Given the description of an element on the screen output the (x, y) to click on. 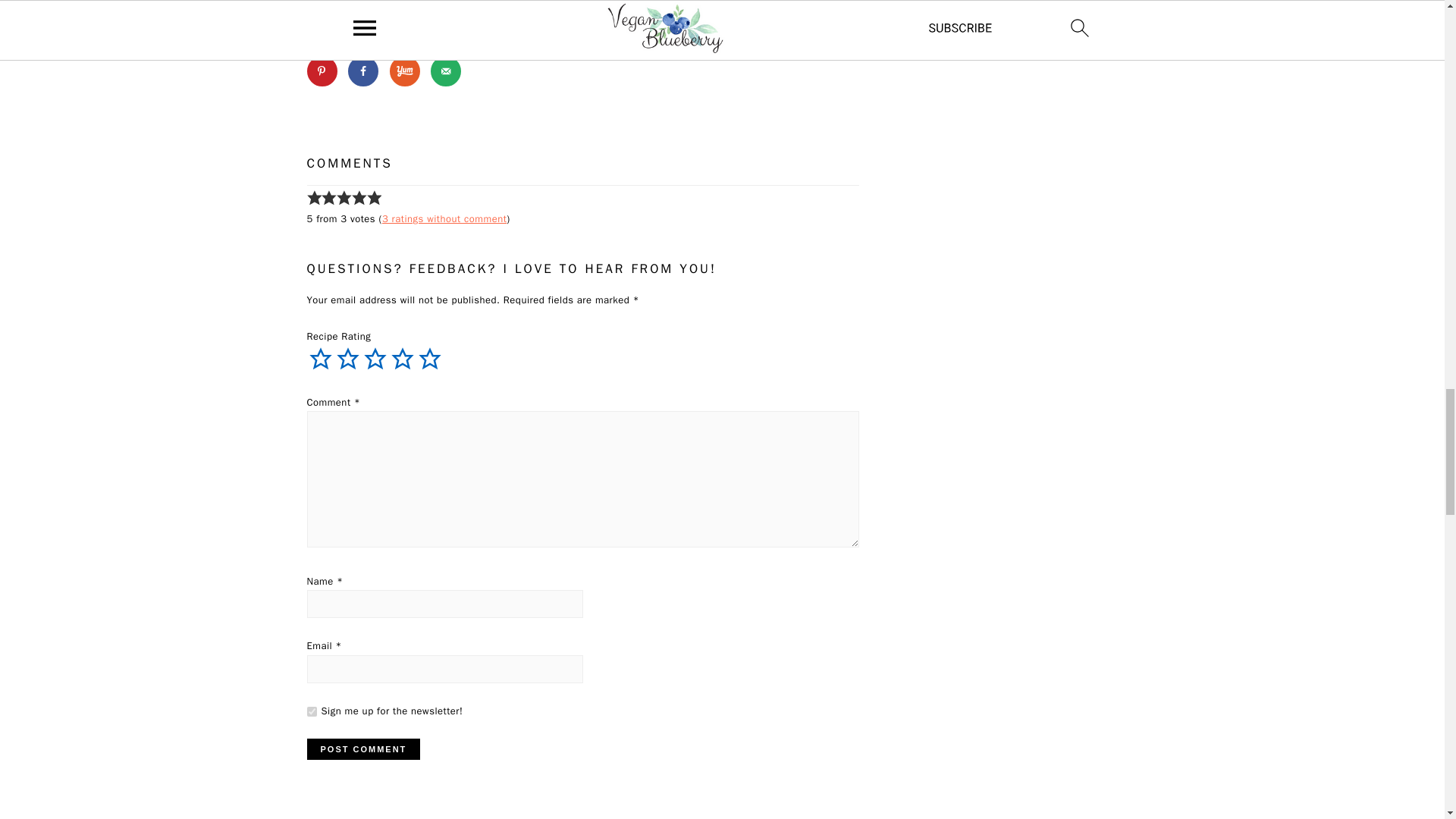
Save to Pinterest (320, 71)
Send over email (445, 71)
Share on Facebook (362, 71)
1 (310, 711)
Post Comment (362, 749)
Share on Yummly (405, 71)
